Given the description of an element on the screen output the (x, y) to click on. 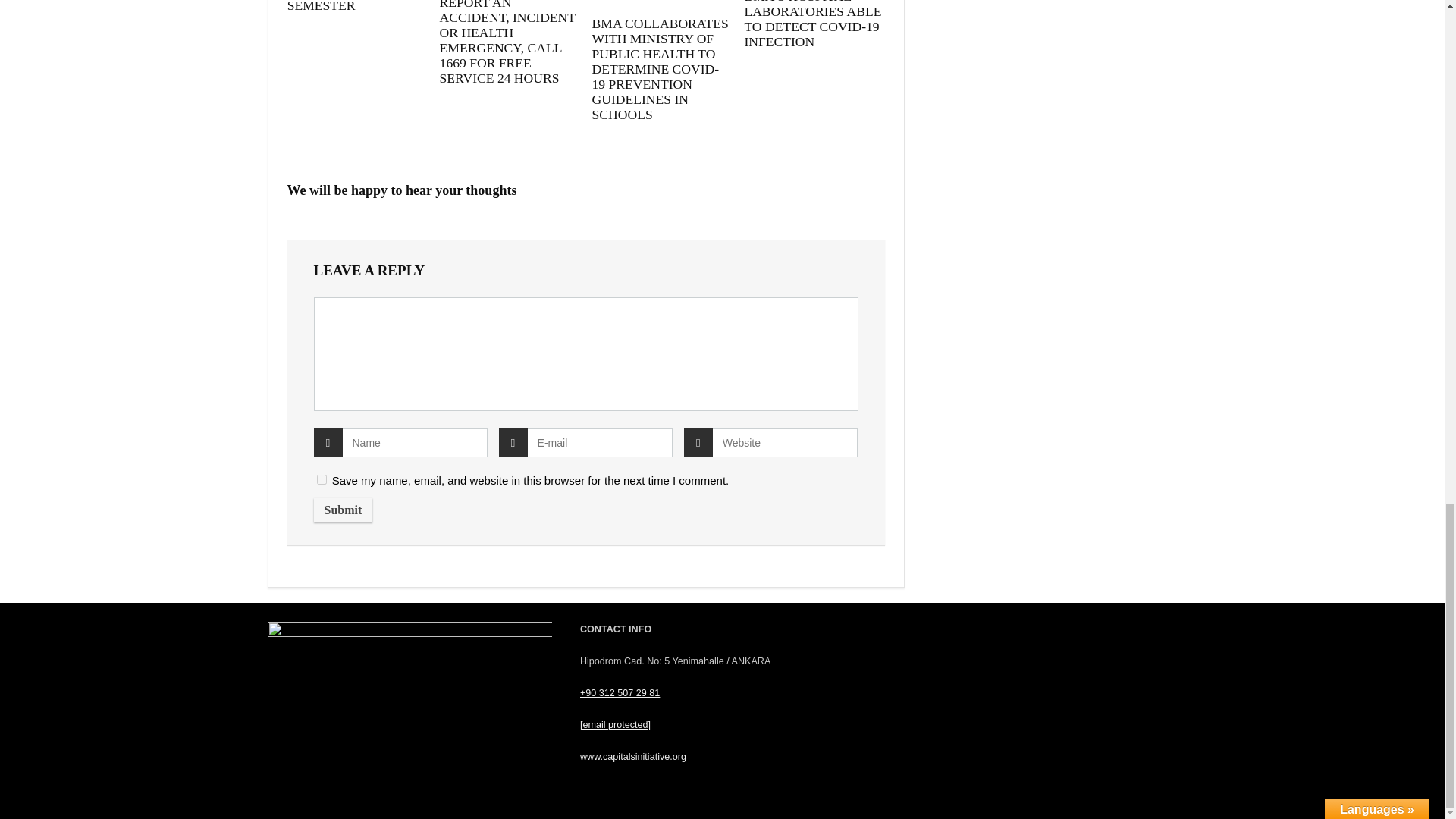
www.capitalsinitiative.org (632, 756)
Submit (343, 509)
yes (321, 479)
Submit (343, 509)
